Given the description of an element on the screen output the (x, y) to click on. 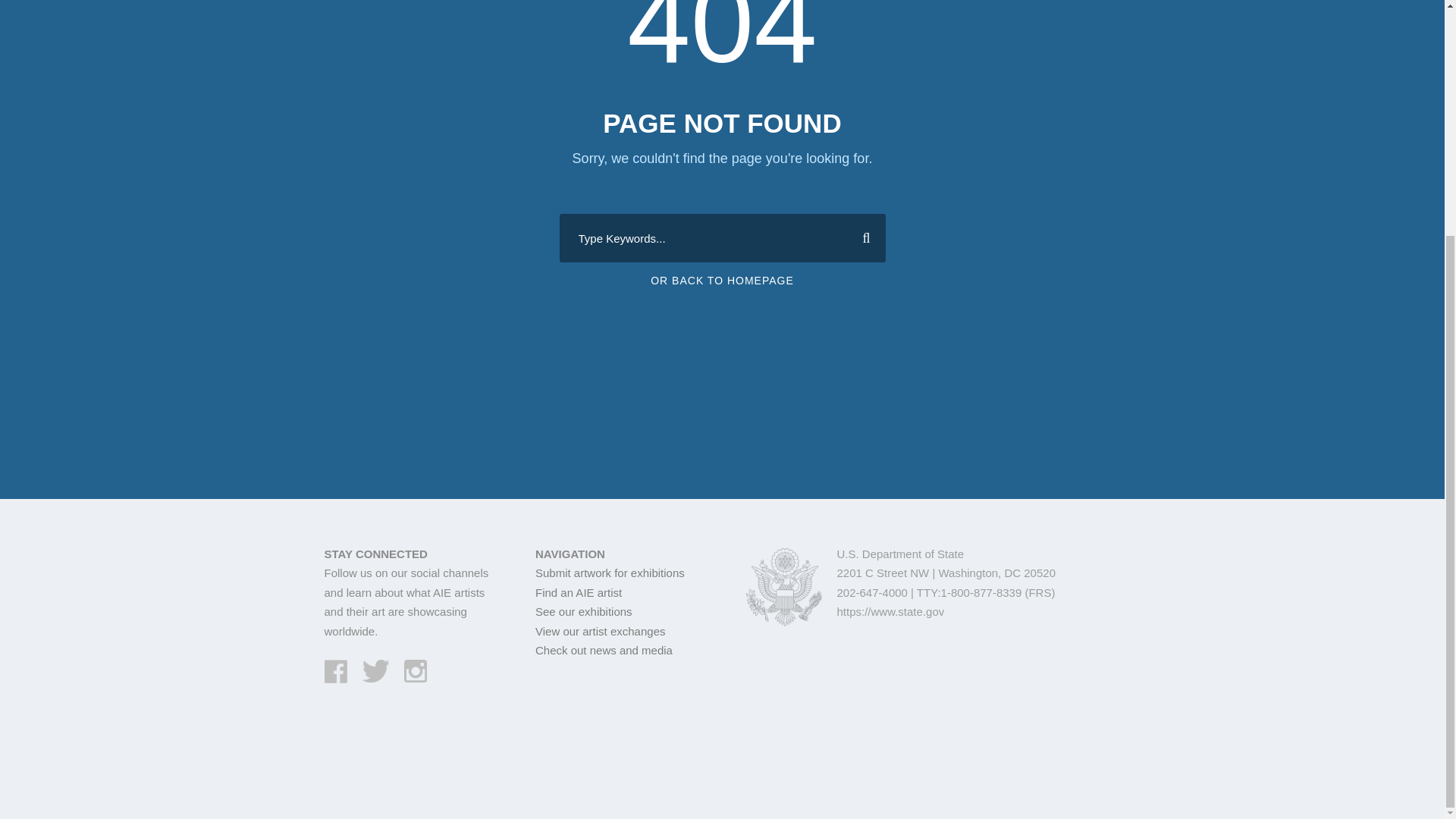
Find an AIE artist (578, 592)
See our exhibitions (583, 611)
Submit artwork for exhibitions (609, 572)
OR BACK TO HOMEPAGE (721, 280)
Search (860, 237)
